Given the description of an element on the screen output the (x, y) to click on. 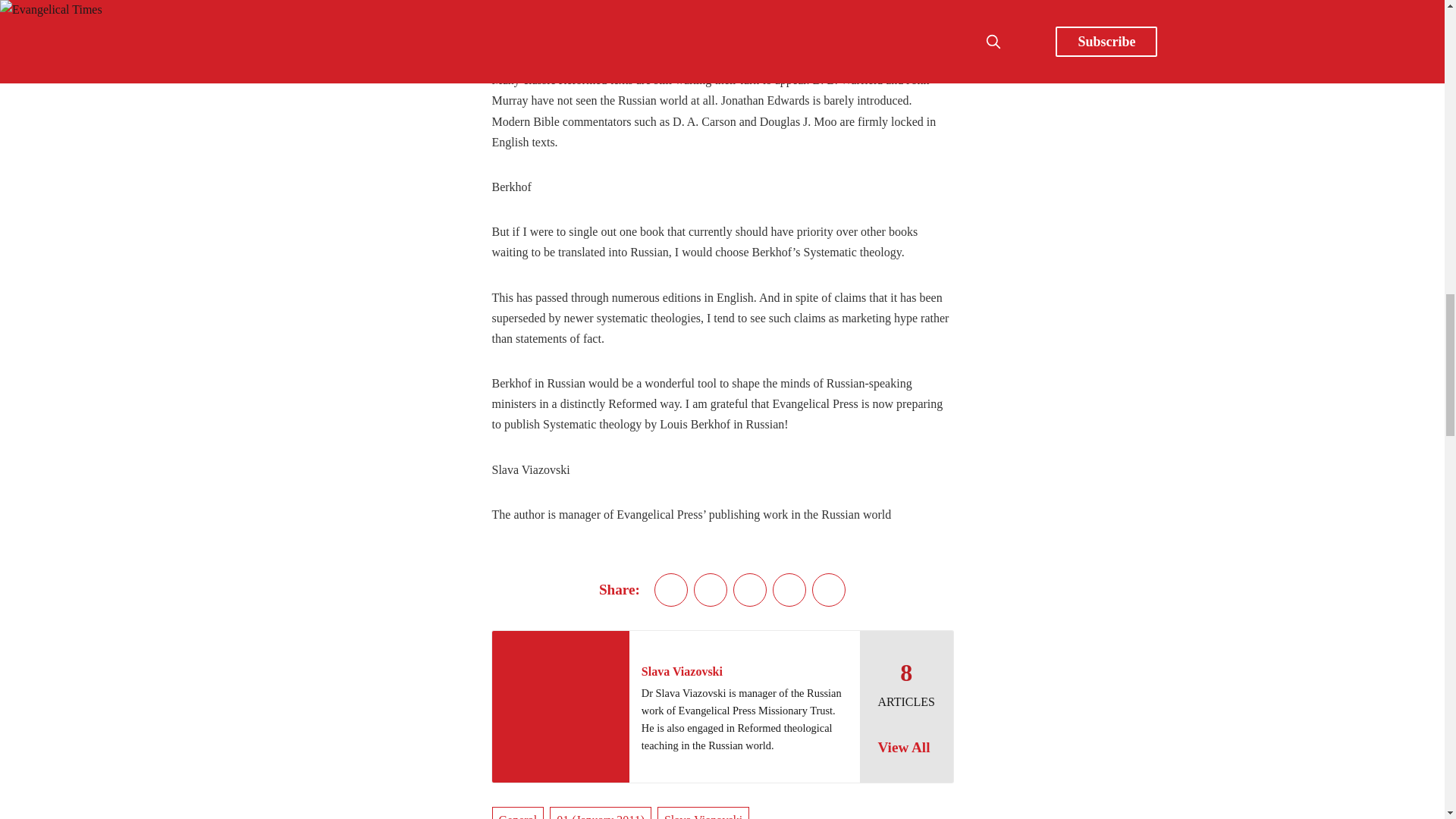
Share on Linkedin (750, 589)
Share on Twitter (670, 589)
Slava Viazovski (682, 671)
General (517, 812)
Share by email (789, 589)
View All (905, 748)
Copy to clipboard (828, 589)
Slava Viazovski (703, 812)
Share on Facebook (710, 589)
